Given the description of an element on the screen output the (x, y) to click on. 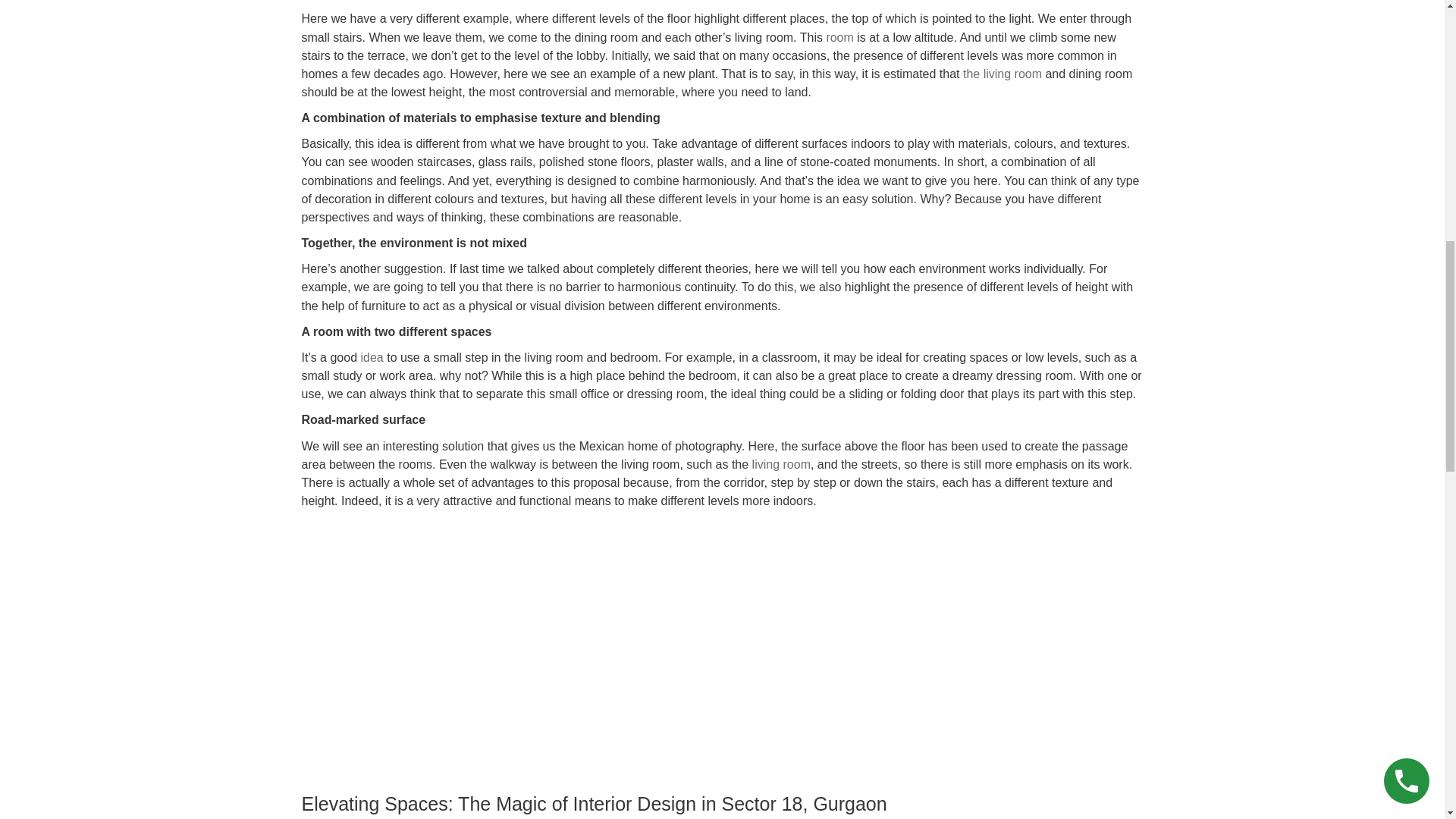
idea (370, 357)
room (839, 37)
living room (781, 463)
the living room (1002, 73)
